Given the description of an element on the screen output the (x, y) to click on. 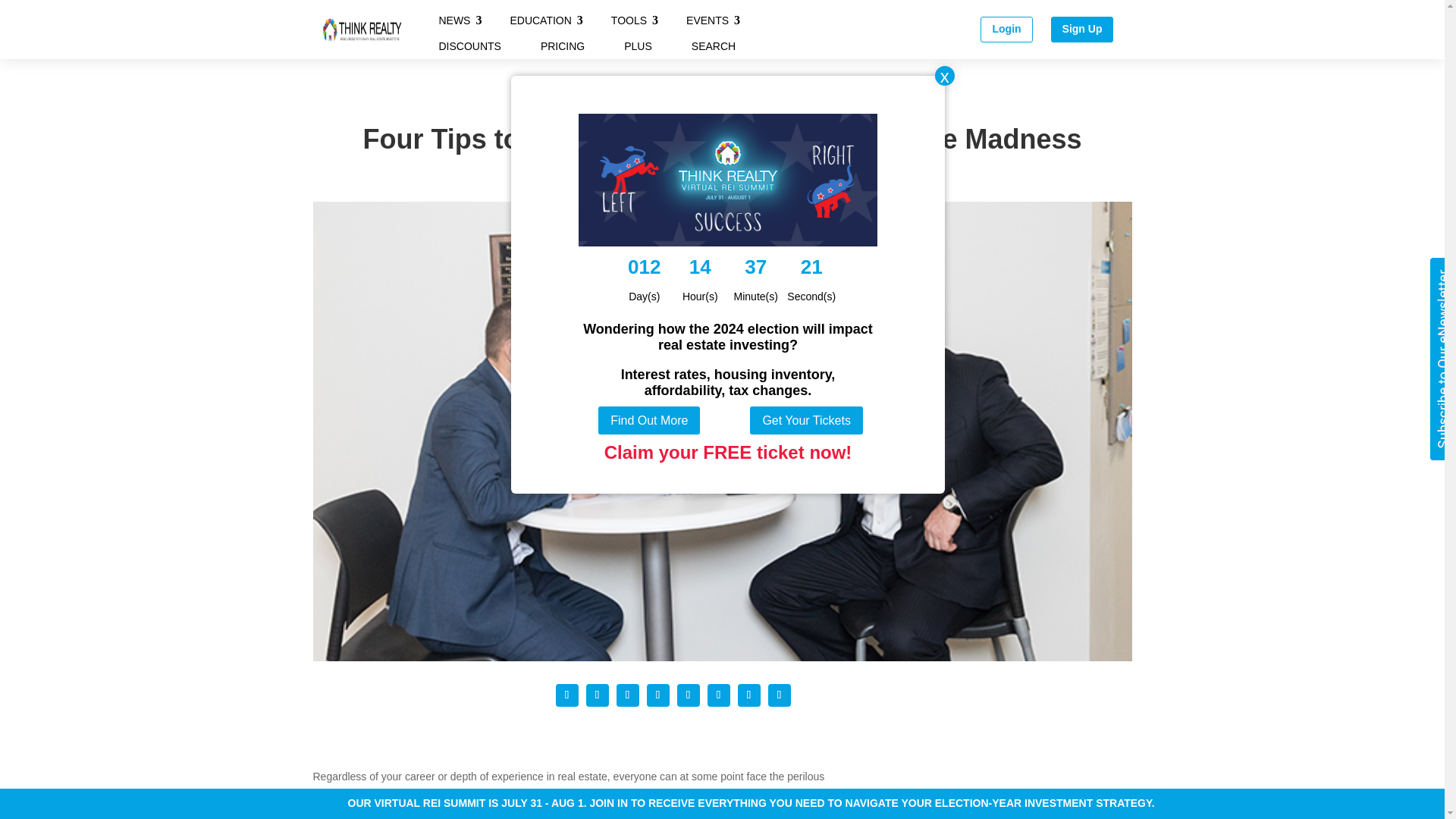
Posts by Bobby Burch (638, 169)
DISCOUNTS (469, 45)
PLUS (637, 45)
TOOLS (628, 20)
EVENTS (707, 20)
PRICING (562, 45)
EDUCATION (539, 20)
SEARCH (712, 45)
3rd party ad content (1002, 793)
NEWS (453, 20)
